Given the description of an element on the screen output the (x, y) to click on. 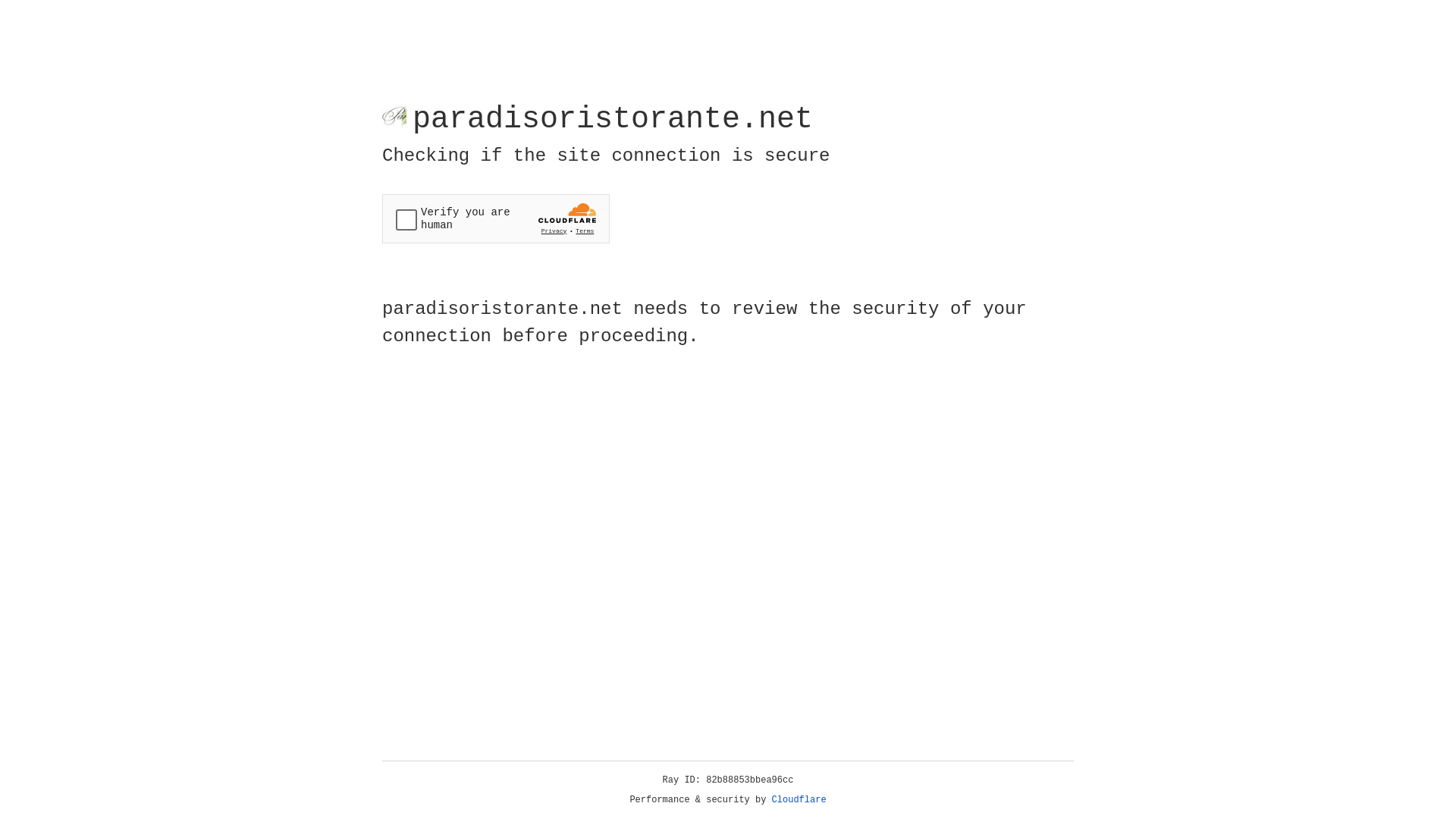
Widget containing a Cloudflare security challenge Element type: hover (495, 218)
Cloudflare Element type: text (798, 799)
